Given the description of an element on the screen output the (x, y) to click on. 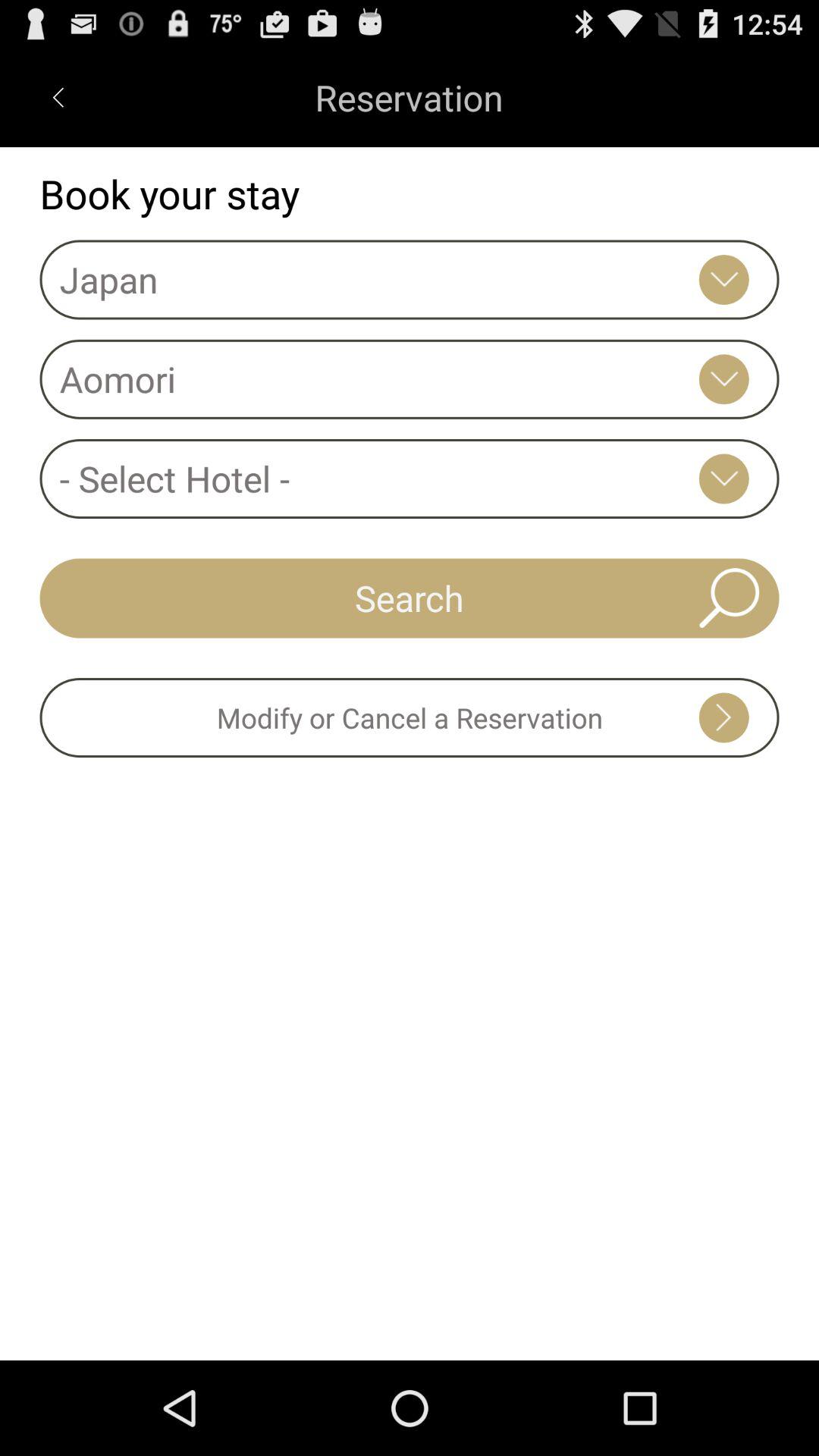
go back a screen (57, 97)
